Given the description of an element on the screen output the (x, y) to click on. 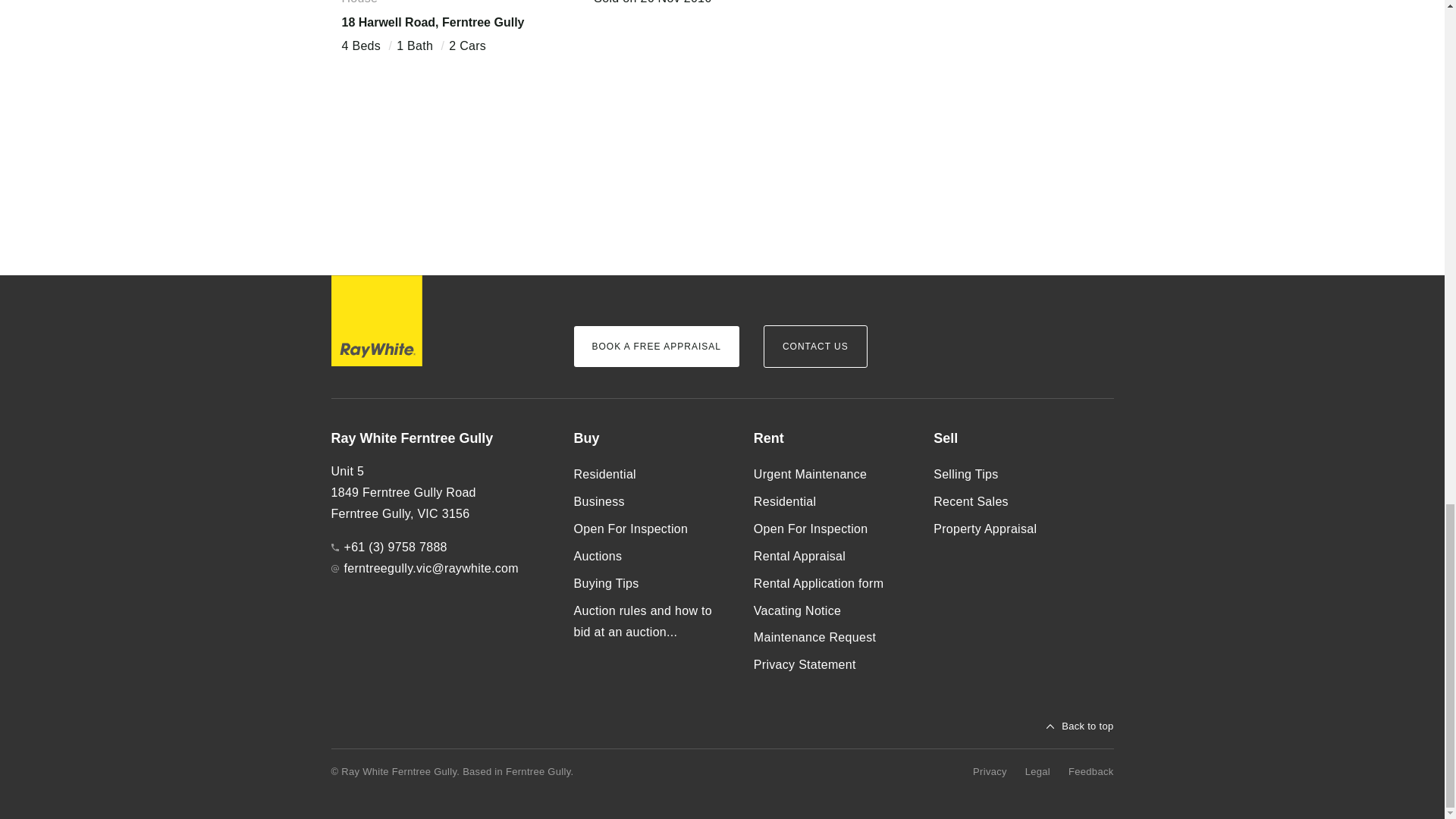
Business (651, 501)
Selling Tips (1011, 474)
Auction rules and how to bid at an auction... (651, 621)
Urgent Maintenance (831, 474)
BOOK A FREE APPRAISAL (655, 345)
Back to top (1079, 726)
18 Harwell Road, Ferntree Gully (432, 21)
Ray White (376, 320)
Residential (831, 501)
Rent (831, 438)
Open For Inspection (651, 528)
Recent Sales (1011, 501)
Rental Appraisal (831, 556)
Auctions (651, 556)
Property Appraisal (1011, 528)
